Given the description of an element on the screen output the (x, y) to click on. 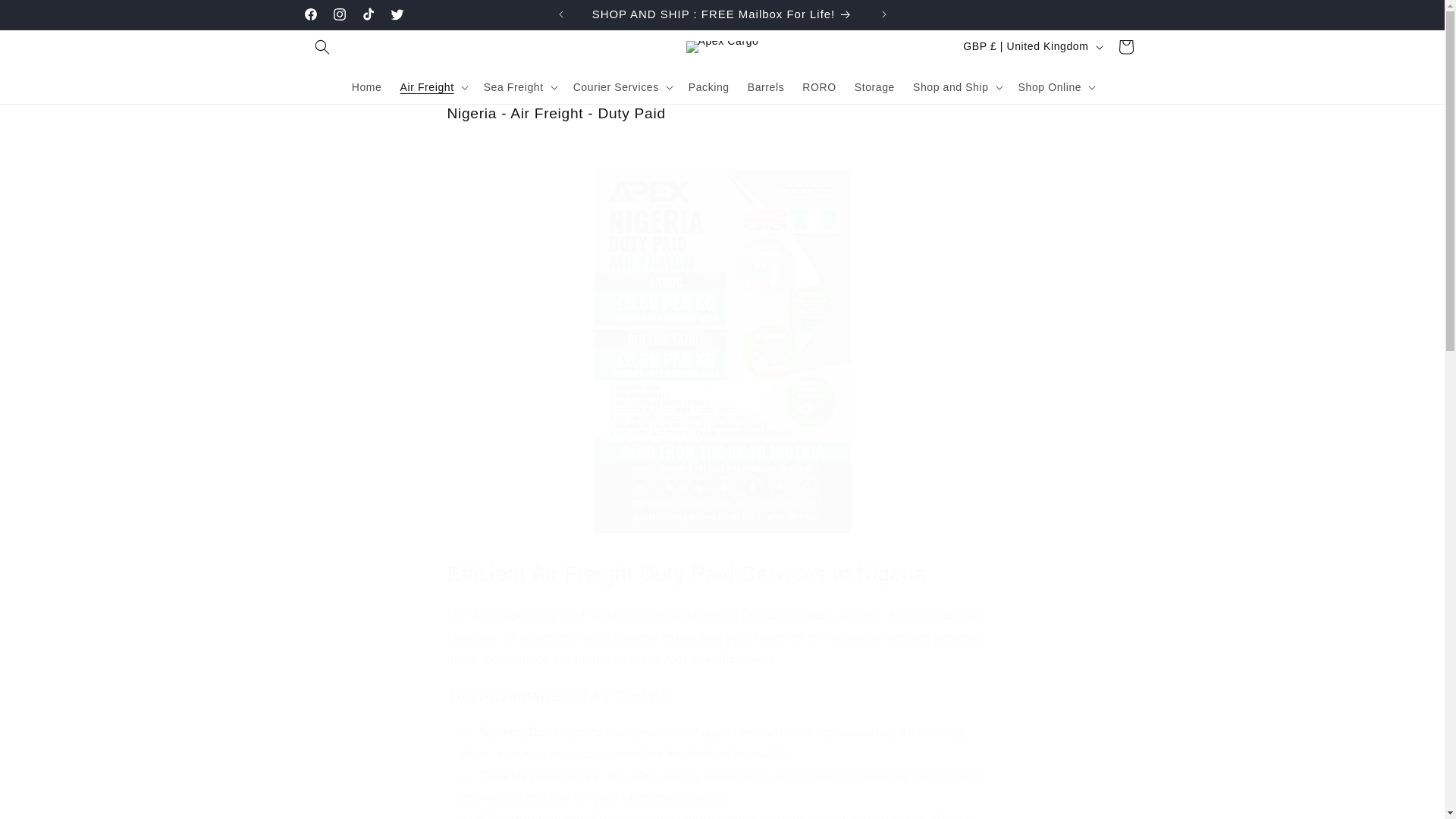
TikTok (367, 14)
Twitter (395, 14)
Skip to content (45, 17)
Nigeria - Air Freight - Duty Paid (721, 113)
Facebook (309, 14)
Instagram (338, 14)
SHOP AND SHIP : FREE Mailbox For Life! (722, 14)
